Given the description of an element on the screen output the (x, y) to click on. 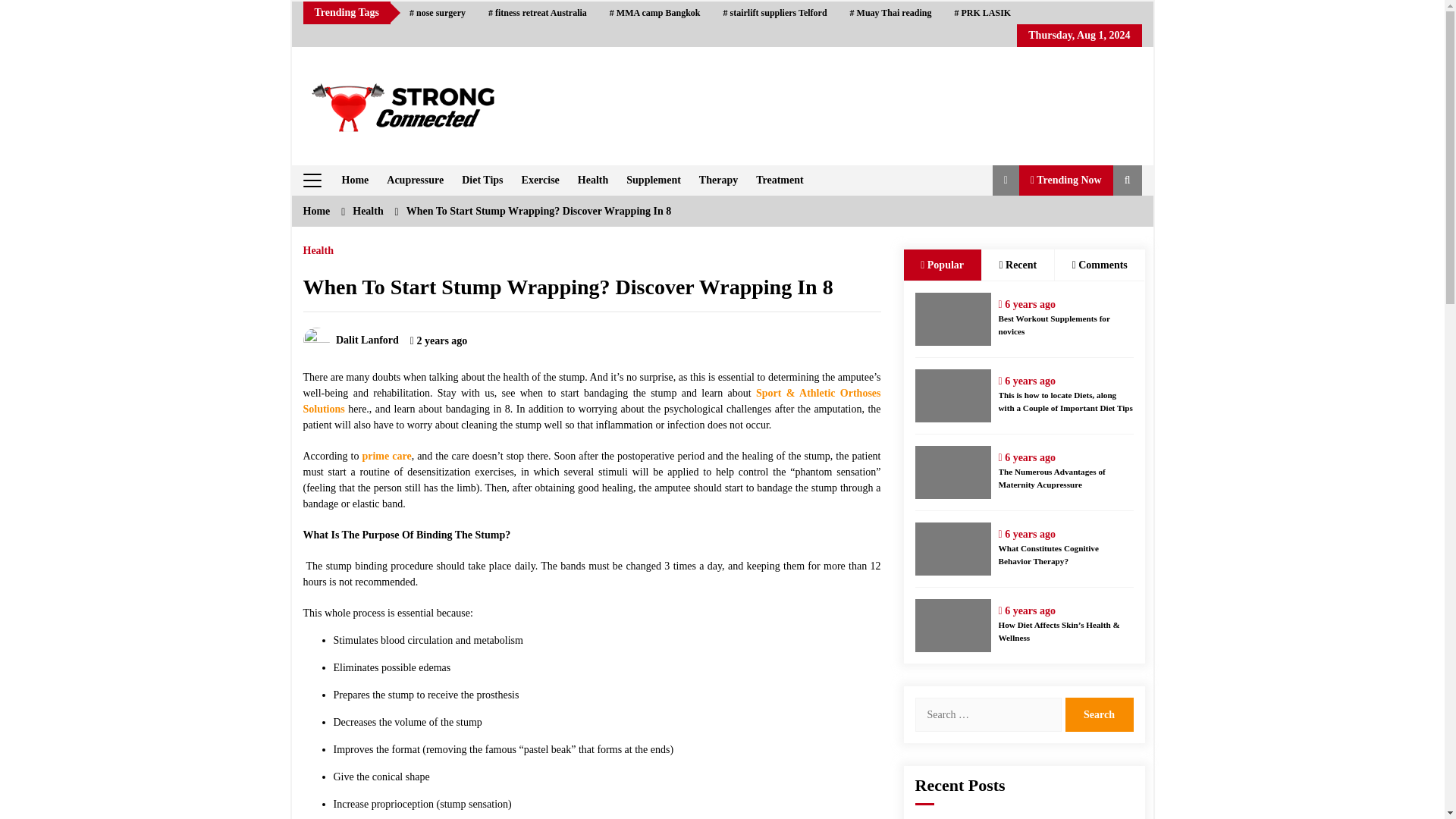
Dalit Lanford (350, 339)
When To Start Stump Wrapping? Discover Wrapping In 8 (567, 286)
Therapy (718, 180)
Home (354, 180)
PRK LASIK (982, 12)
Search (1098, 714)
stairlift suppliers Telford (774, 12)
Search (1098, 714)
Treatment (779, 180)
Acupressure (414, 180)
Supplement (653, 180)
fitness retreat Australia (537, 12)
prime care (385, 455)
MMA camp Bangkok (654, 12)
nose surgery (437, 12)
